Given the description of an element on the screen output the (x, y) to click on. 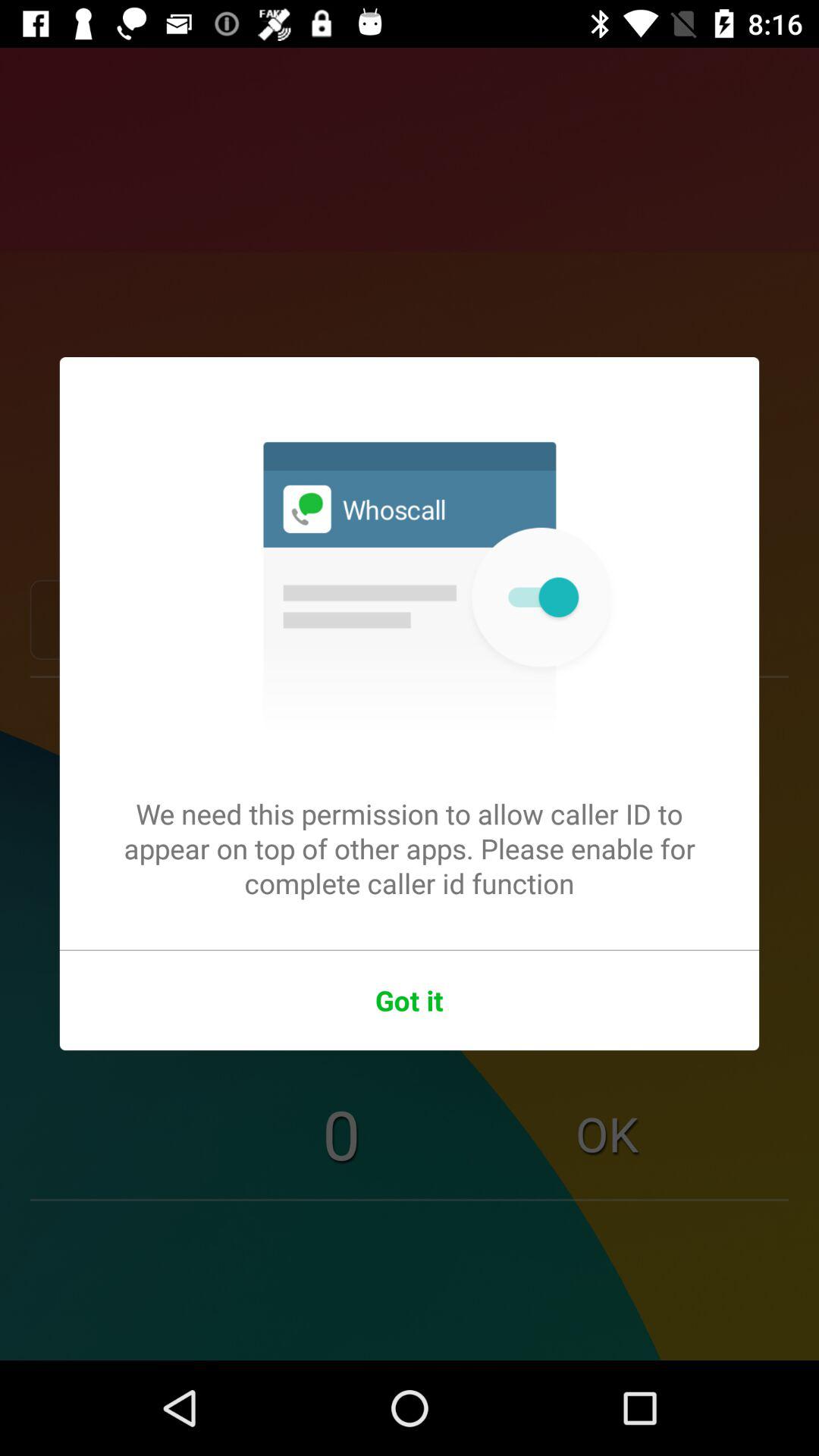
select the got it app (409, 1000)
